Given the description of an element on the screen output the (x, y) to click on. 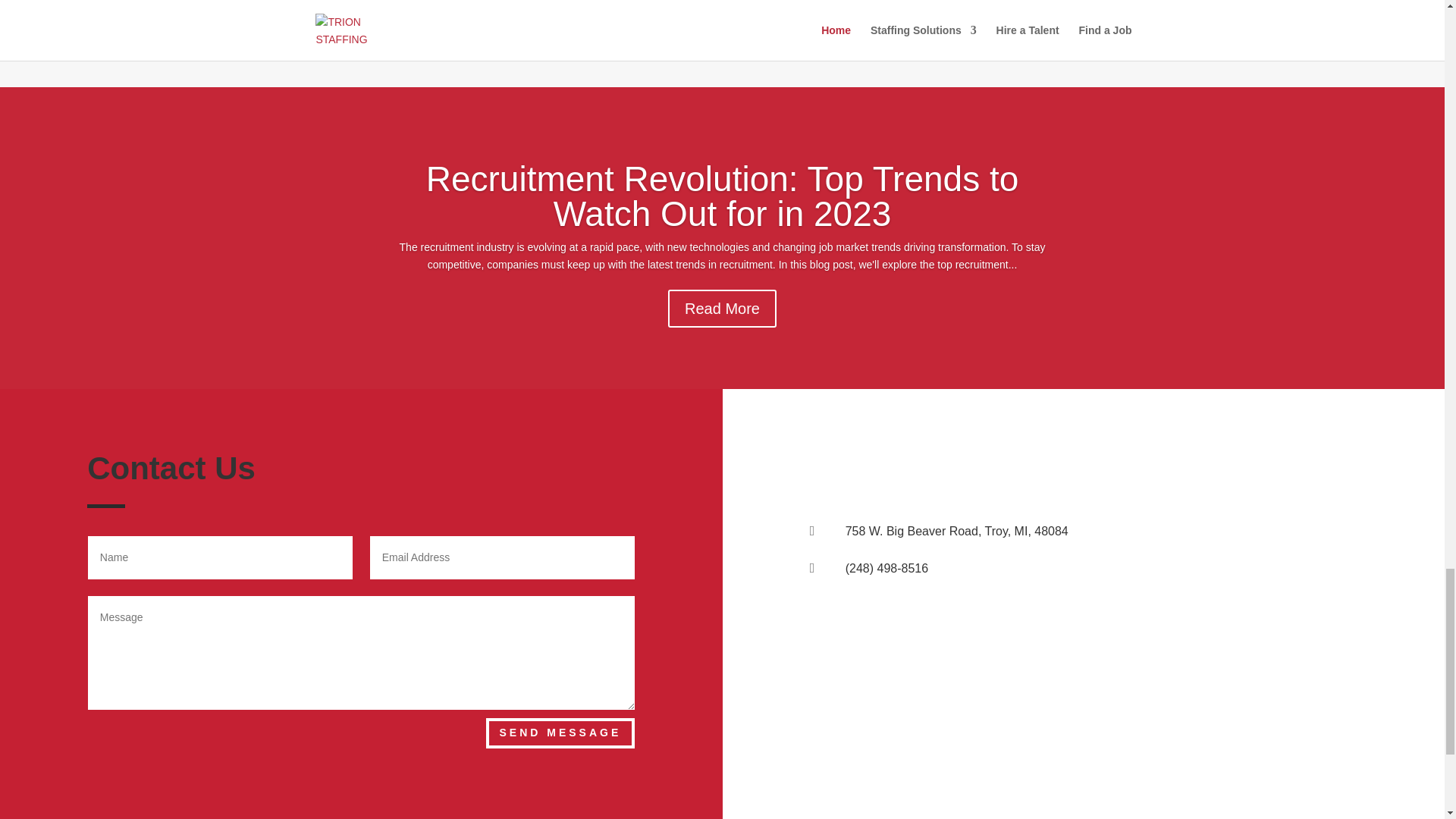
Read More (722, 308)
Recruitment Revolution: Top Trends to Watch Out for in 2023 (722, 195)
SEND MESSAGE (559, 733)
